Given the description of an element on the screen output the (x, y) to click on. 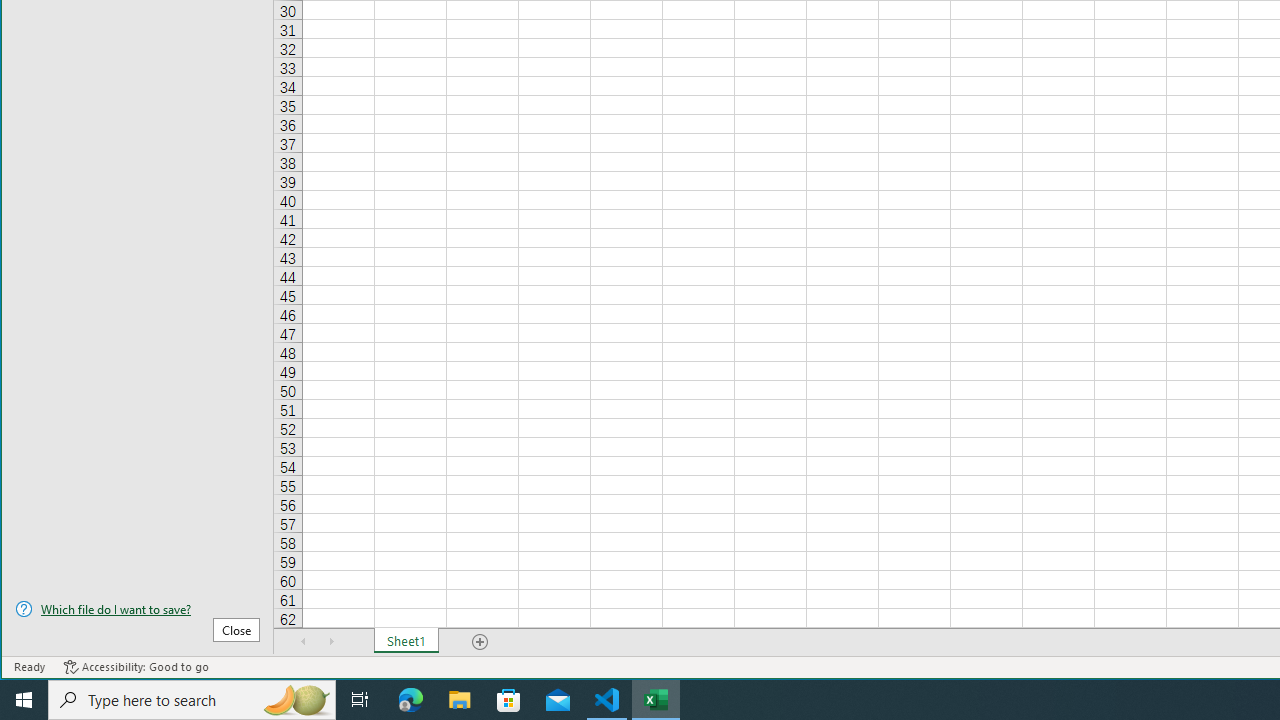
Visual Studio Code - 1 running window (607, 699)
Task View (359, 699)
Microsoft Store (509, 699)
Start (24, 699)
File Explorer (460, 699)
Type here to search (191, 699)
Microsoft Edge (411, 699)
